Given the description of an element on the screen output the (x, y) to click on. 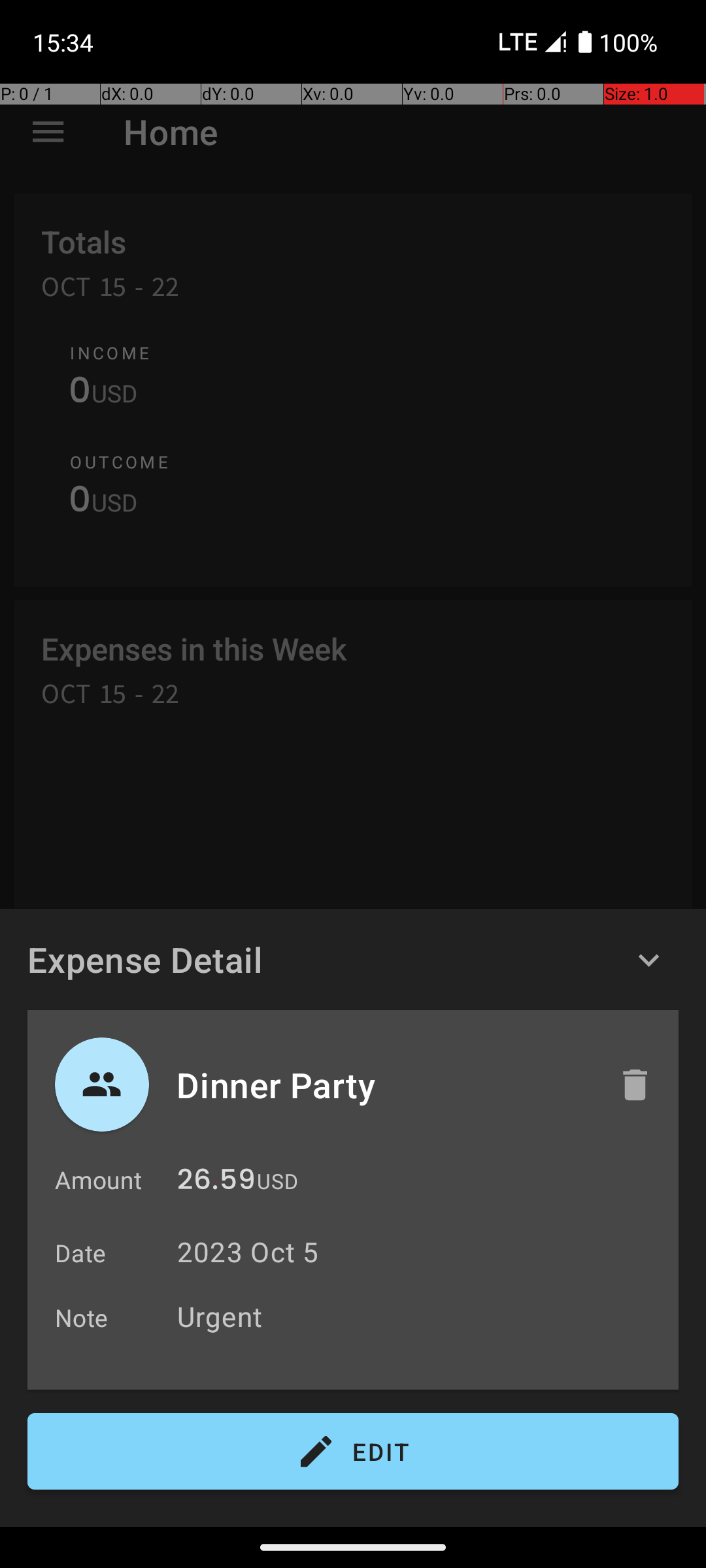
26.59 Element type: android.widget.TextView (216, 1182)
2023 Oct 5 Element type: android.widget.TextView (247, 1251)
